Given the description of an element on the screen output the (x, y) to click on. 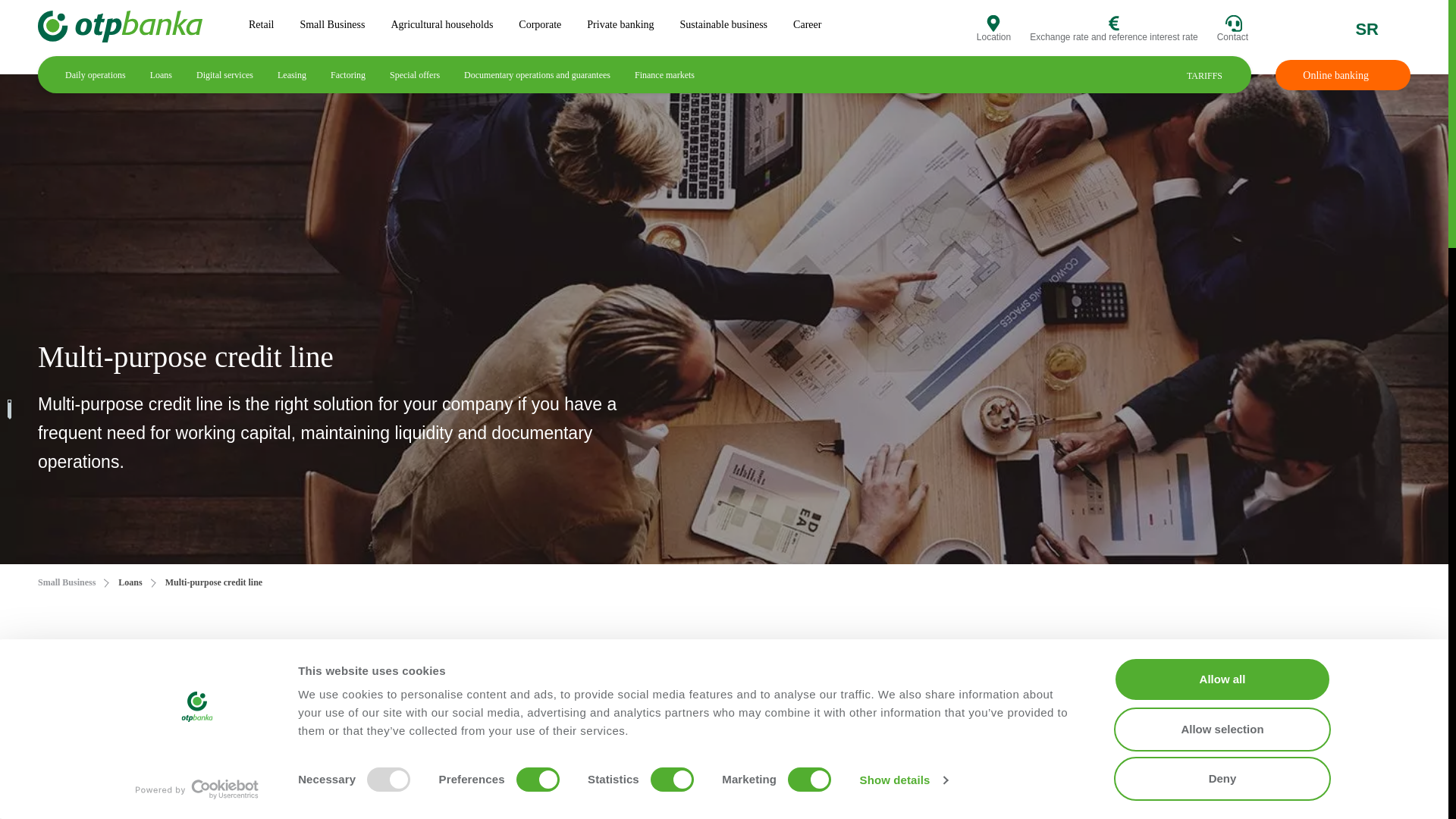
Show details (903, 780)
